Given the description of an element on the screen output the (x, y) to click on. 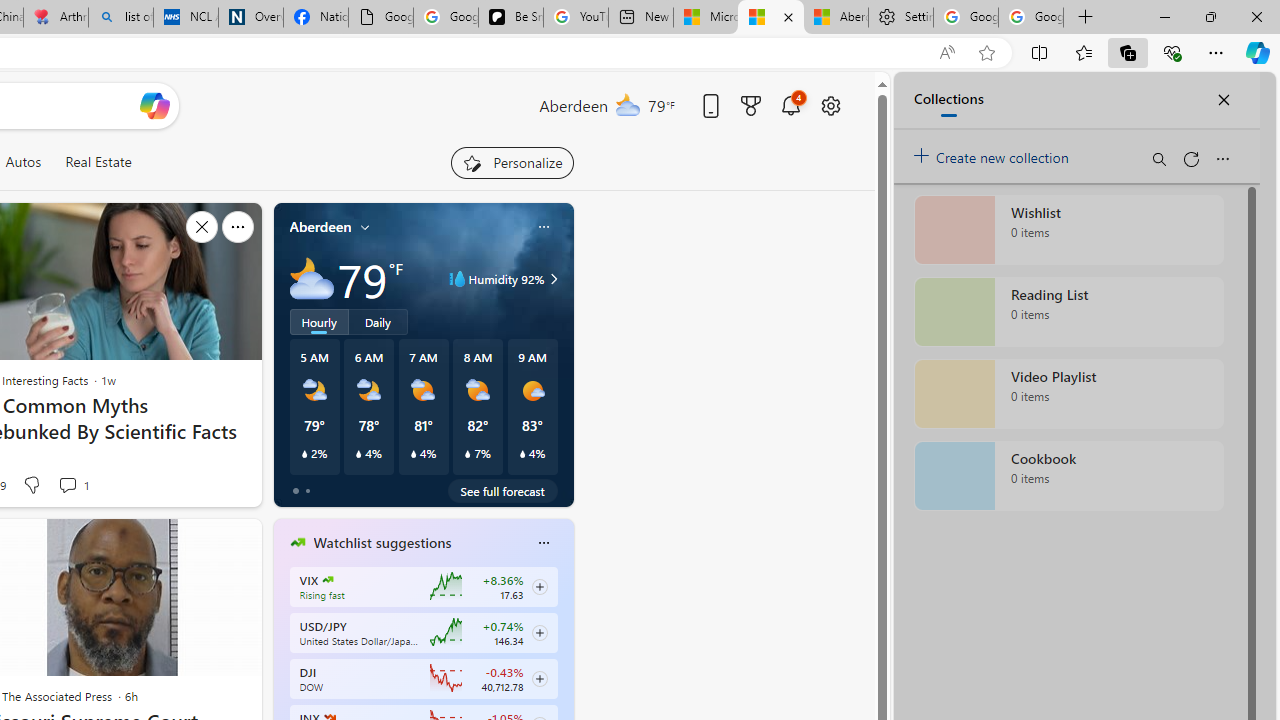
Autos (22, 161)
My location (365, 227)
Google Analytics Opt-out Browser Add-on Download Page (381, 17)
next (563, 670)
